Given the description of an element on the screen output the (x, y) to click on. 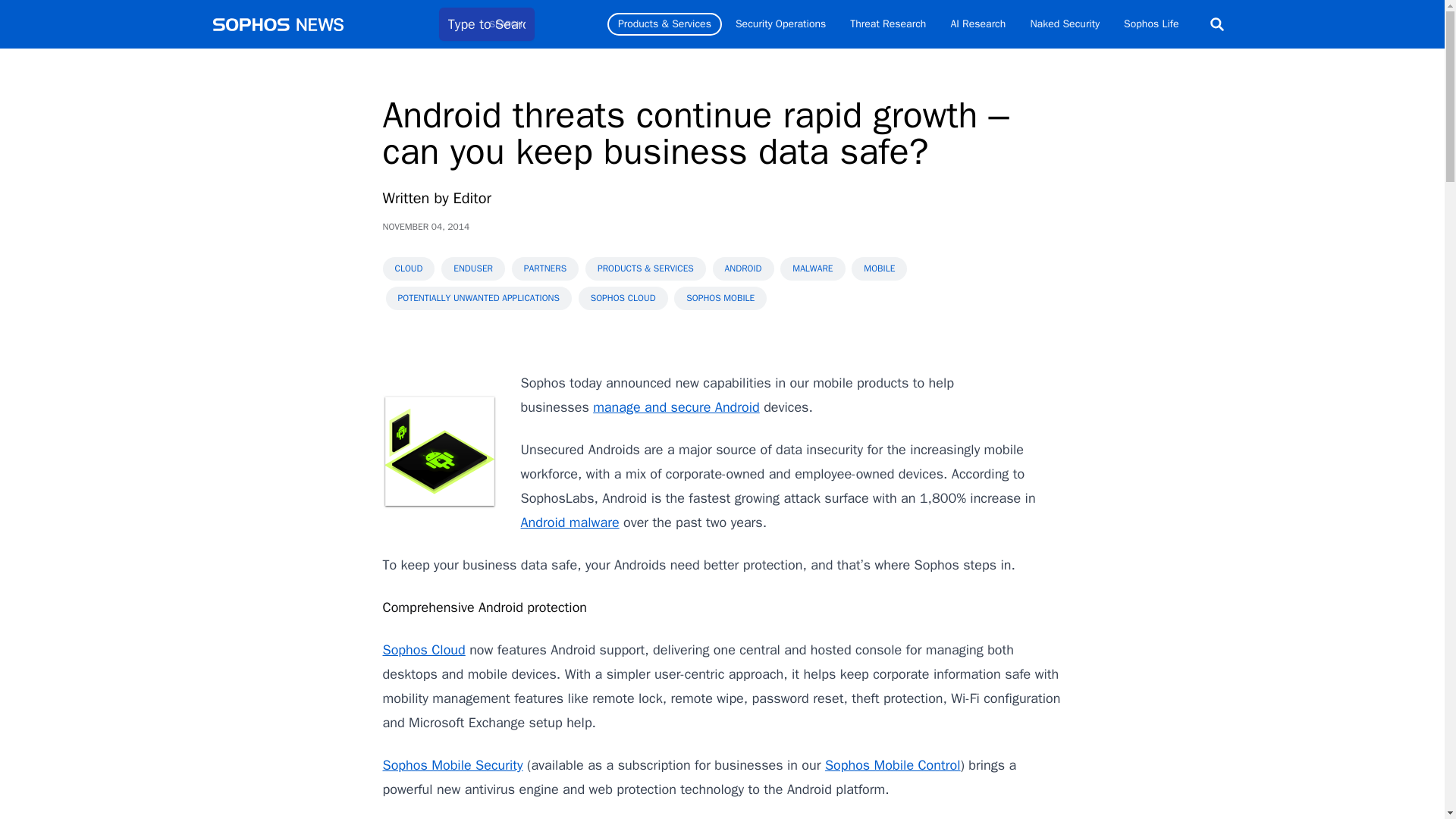
Sophos Mobile Control (892, 764)
Search (1216, 24)
PARTNERS (545, 268)
Security Operations (780, 24)
SEARCH (505, 24)
NOVEMBER 04, 2014 (424, 226)
Sophos Mobile Security for Android (451, 764)
SOPHOS CLOUD (623, 298)
POTENTIALLY UNWANTED APPLICATIONS (477, 298)
ANDROID (743, 268)
